Given the description of an element on the screen output the (x, y) to click on. 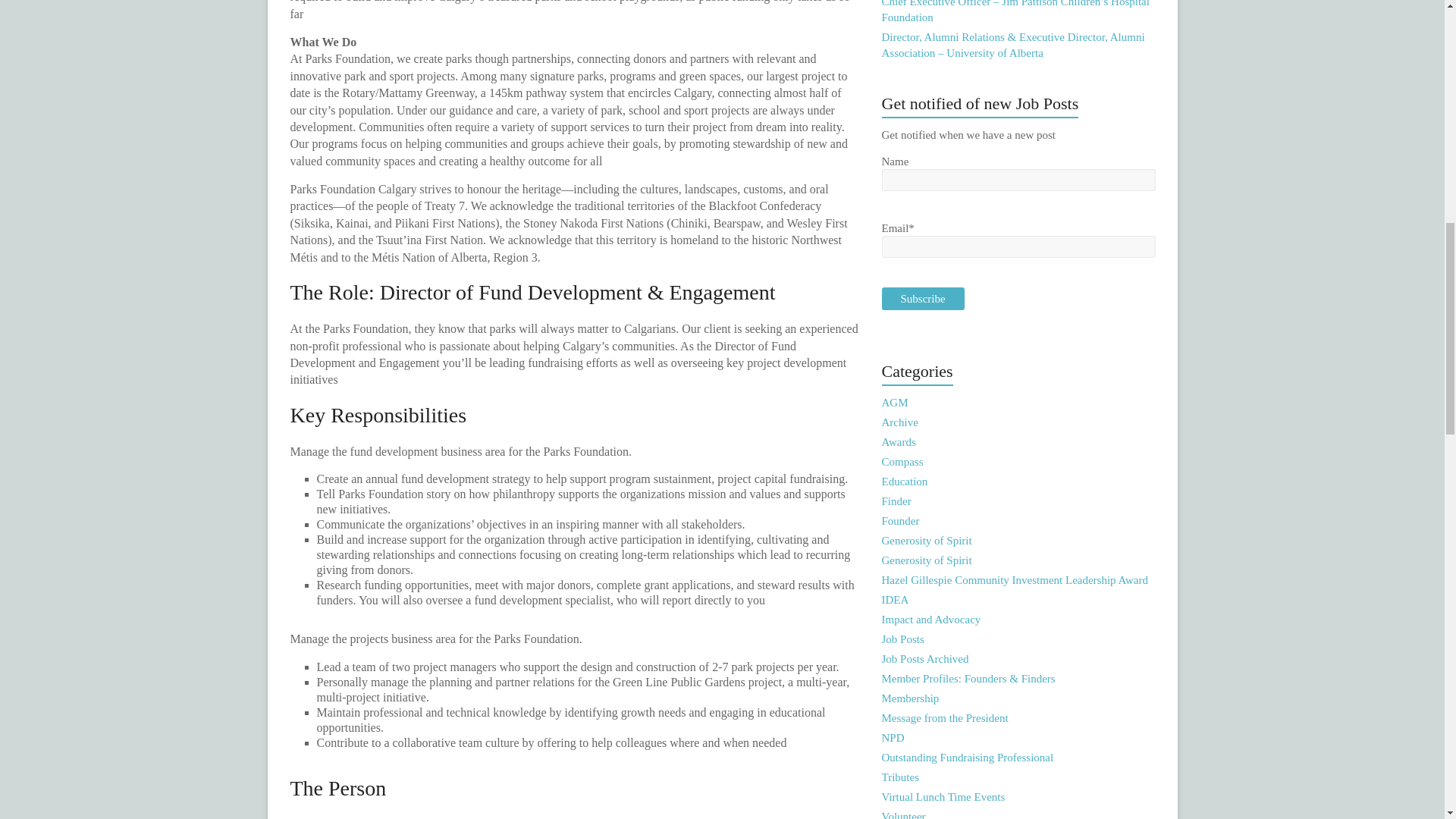
Subscribe (922, 298)
